Given the description of an element on the screen output the (x, y) to click on. 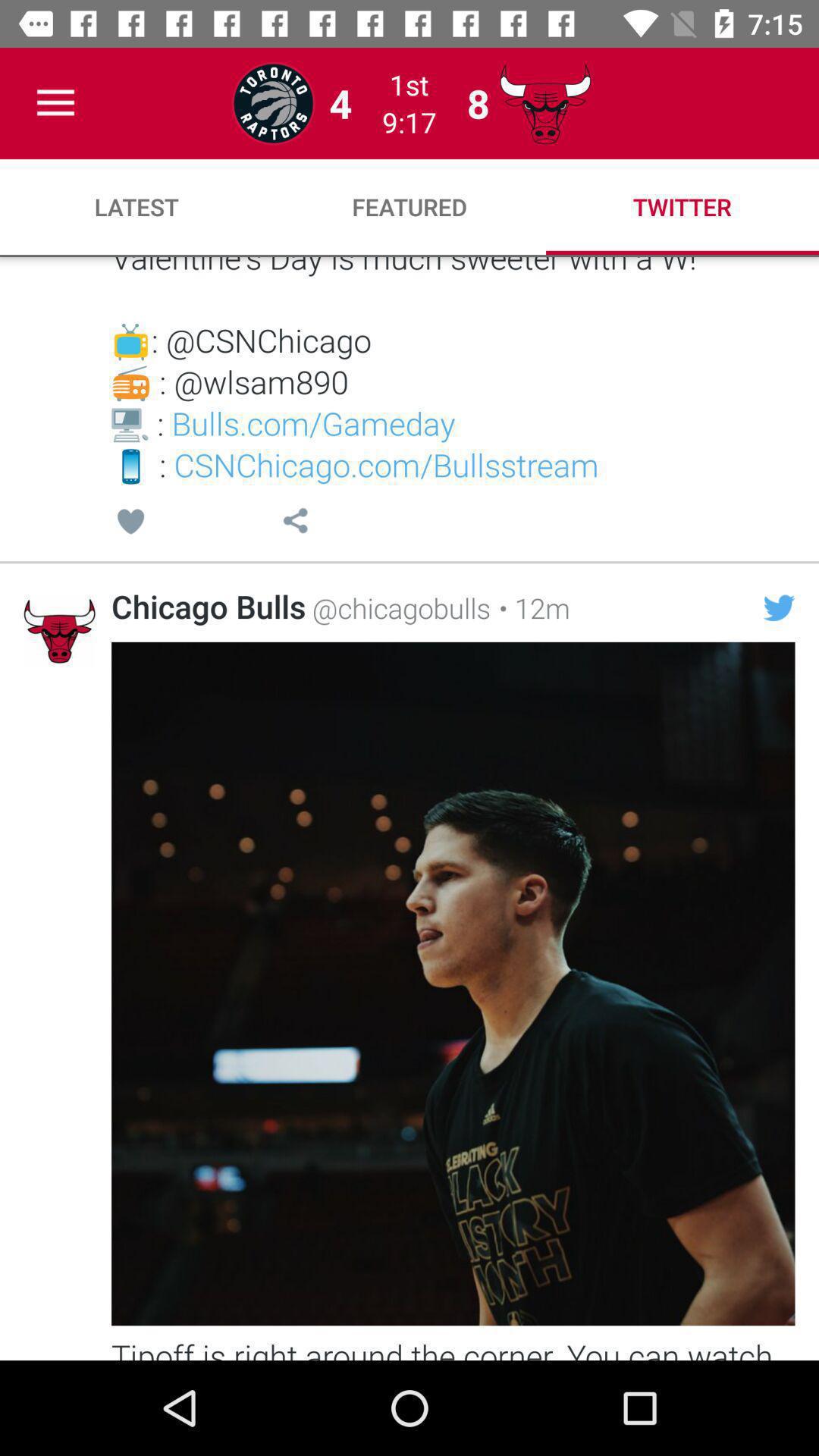
launch the icon below the valentine s day (131, 523)
